Given the description of an element on the screen output the (x, y) to click on. 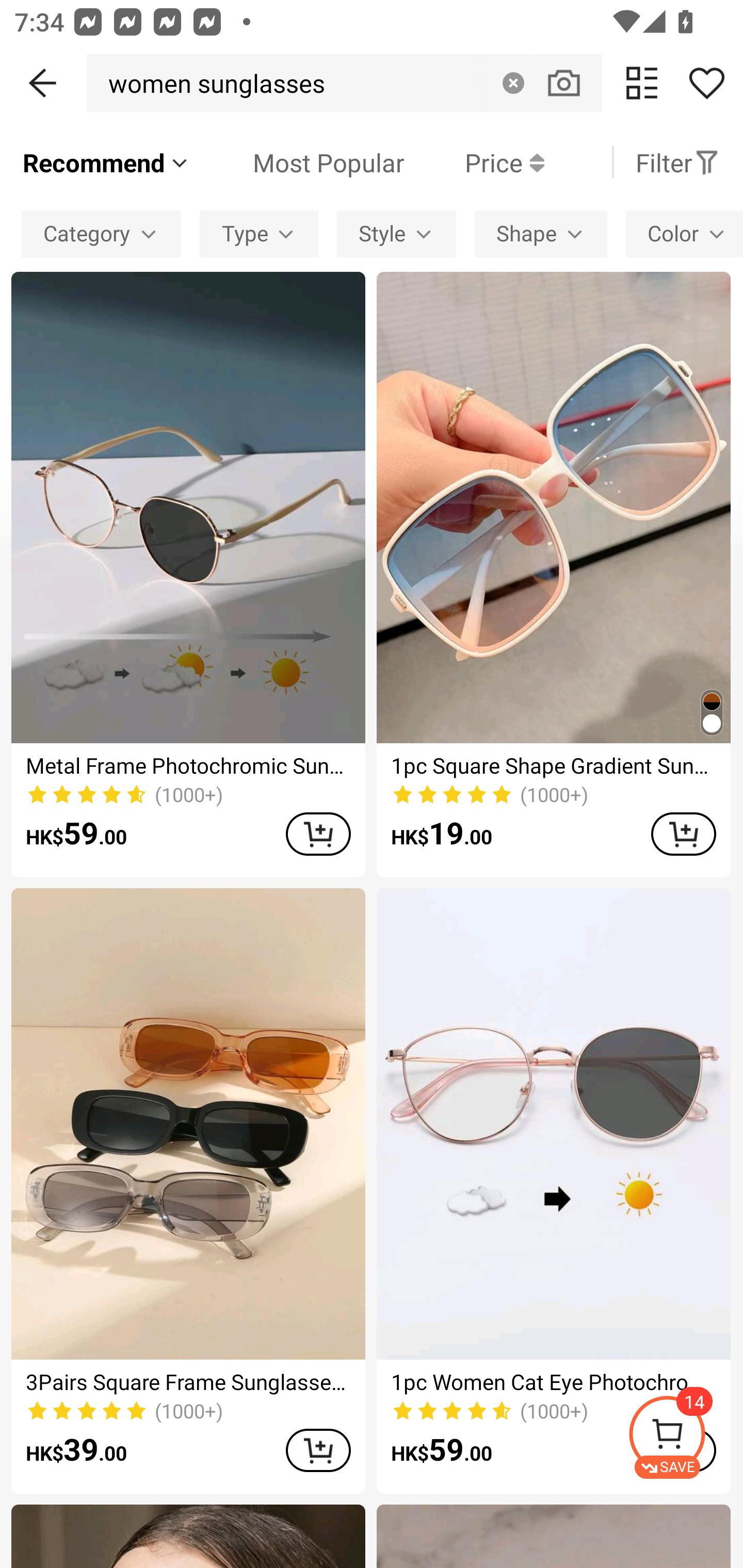
women sunglasses Clear (343, 82)
women sunglasses (210, 82)
Clear (513, 82)
change view (641, 82)
Share (706, 82)
Recommend (106, 162)
Most Popular (297, 162)
Price (474, 162)
Filter (677, 162)
Category (101, 233)
Type (258, 233)
Style (396, 233)
Shape (540, 233)
Color (684, 233)
ADD TO CART (318, 834)
ADD TO CART (683, 834)
SAVE (685, 1436)
ADD TO CART (318, 1450)
